Given the description of an element on the screen output the (x, y) to click on. 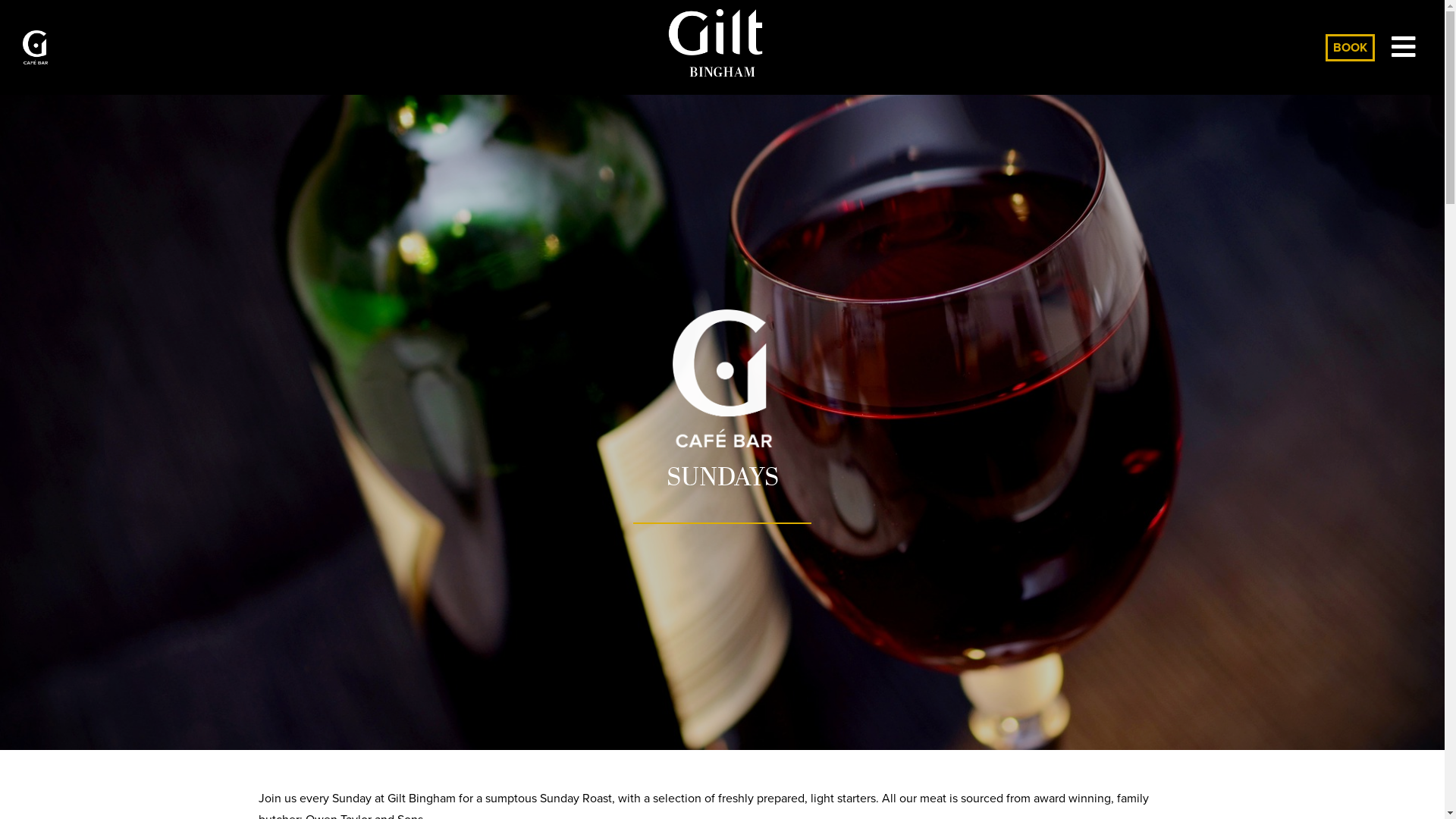
BOOK Element type: text (1349, 46)
